Given the description of an element on the screen output the (x, y) to click on. 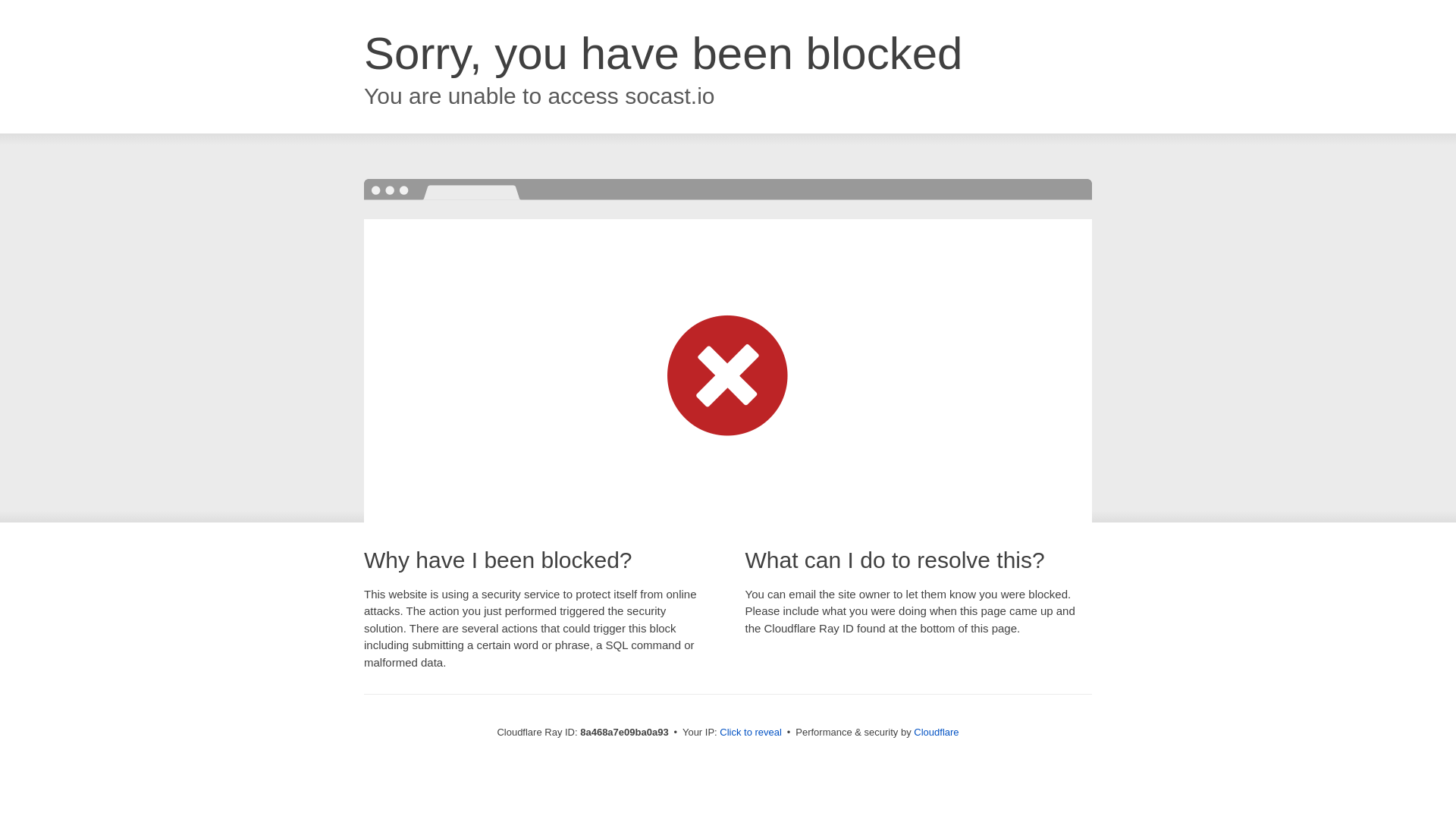
Click to reveal (750, 732)
Cloudflare (936, 731)
